Given the description of an element on the screen output the (x, y) to click on. 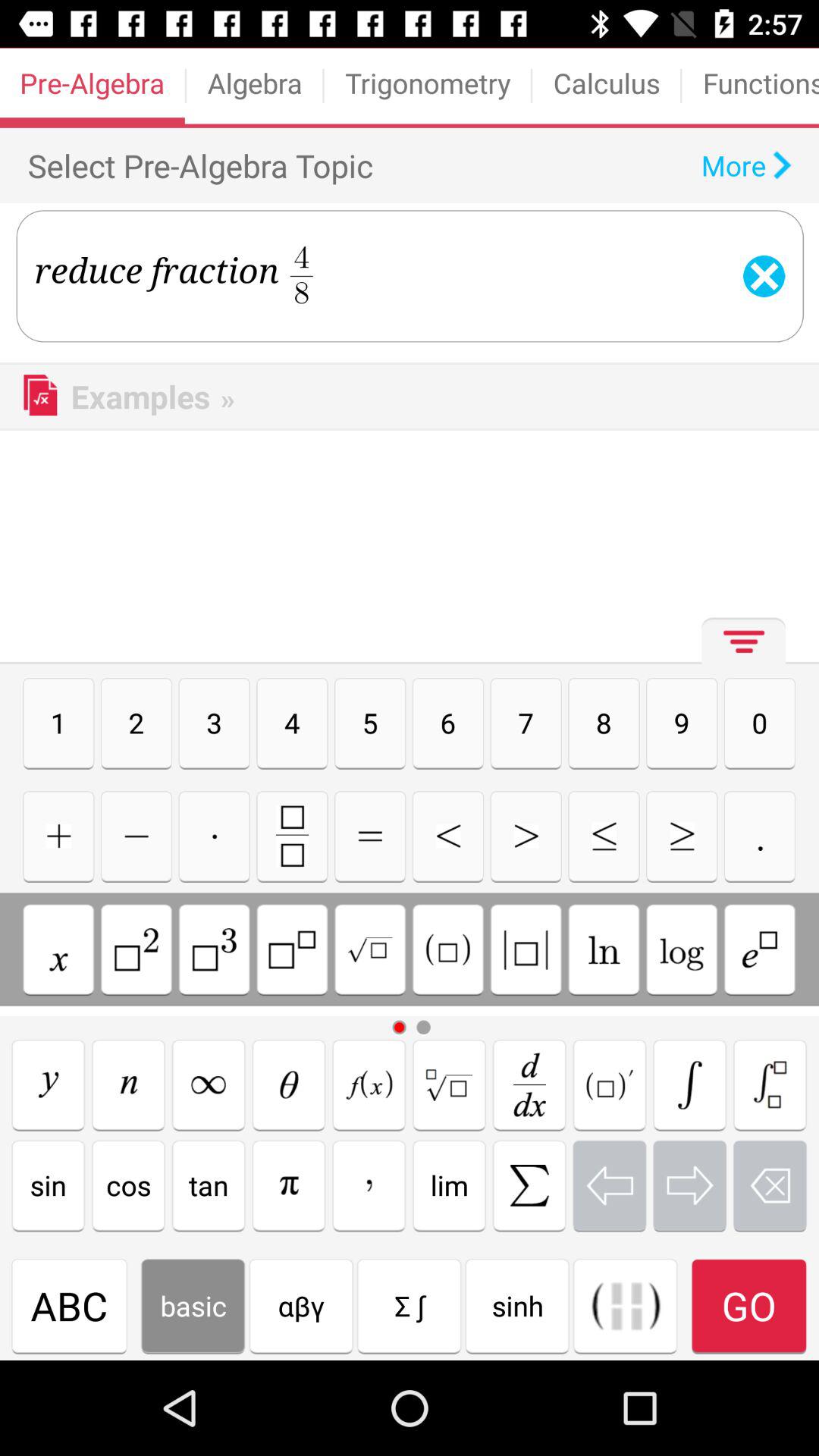
input theta symbol (288, 1084)
